Given the description of an element on the screen output the (x, y) to click on. 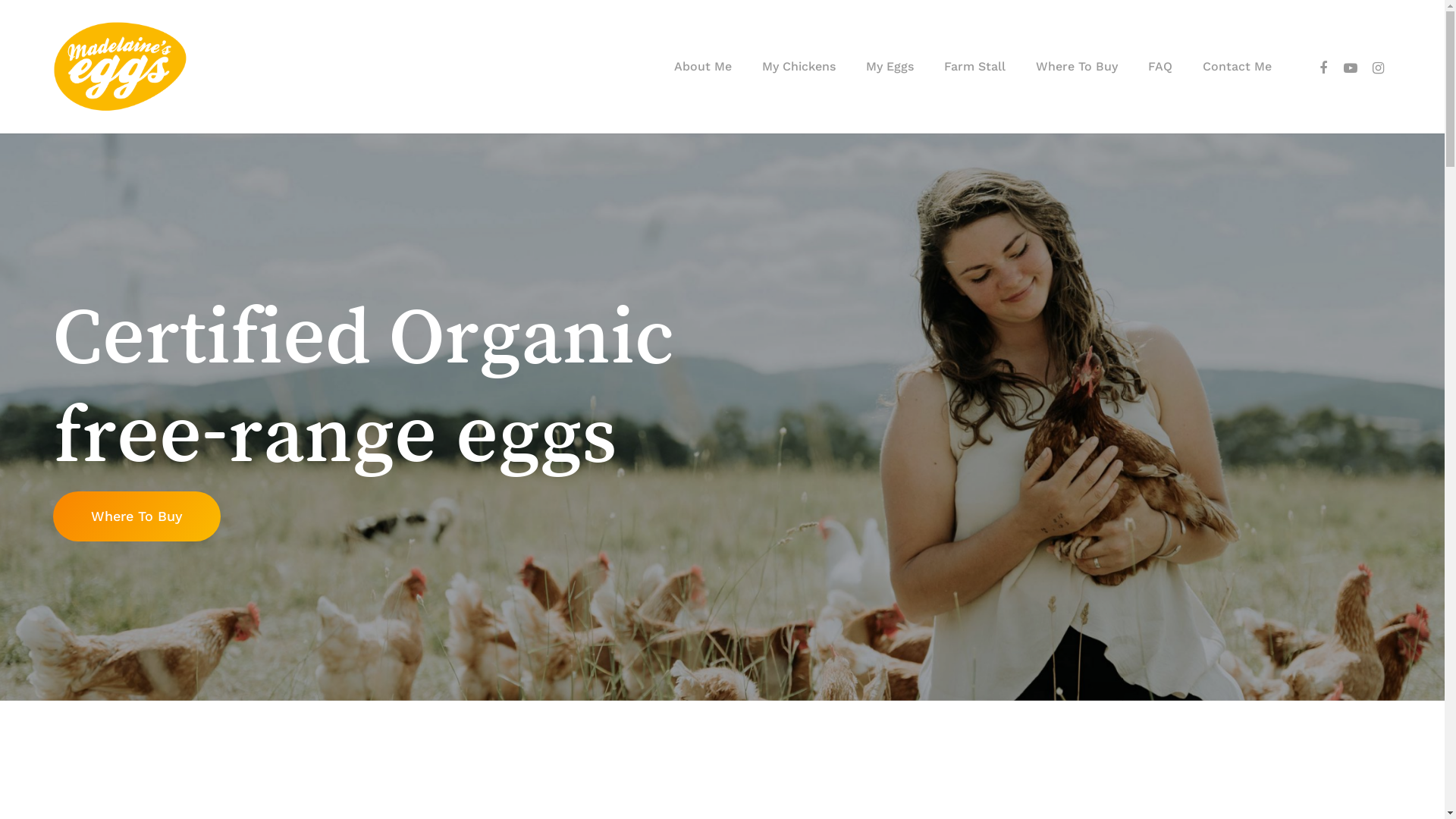
My Chickens Element type: text (798, 66)
facebook Element type: text (1322, 66)
Where To Buy Element type: text (136, 516)
Farm Stall Element type: text (974, 66)
instagram Element type: text (1377, 66)
FAQ Element type: text (1160, 66)
Contact Me Element type: text (1236, 66)
Where To Buy Element type: text (1076, 66)
youtube Element type: text (1350, 66)
About Me Element type: text (702, 66)
My Eggs Element type: text (889, 66)
